Given the description of an element on the screen output the (x, y) to click on. 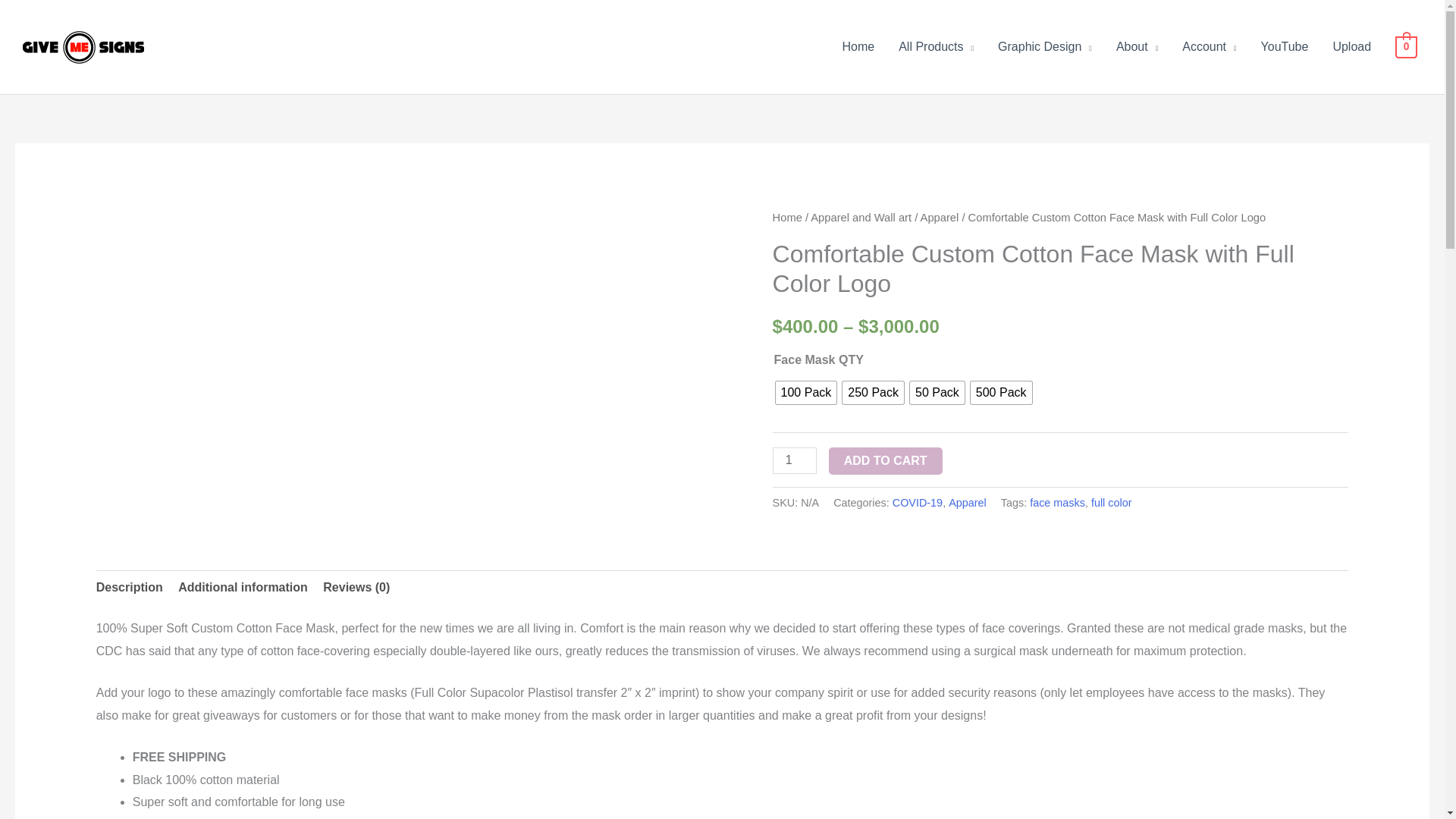
250 Pack (873, 392)
Graphic Design (1044, 46)
50 Pack (936, 392)
Home (857, 46)
100 Pack (806, 392)
About (1136, 46)
1 (794, 460)
All Products (935, 46)
500 Pack (1001, 392)
